Given the description of an element on the screen output the (x, y) to click on. 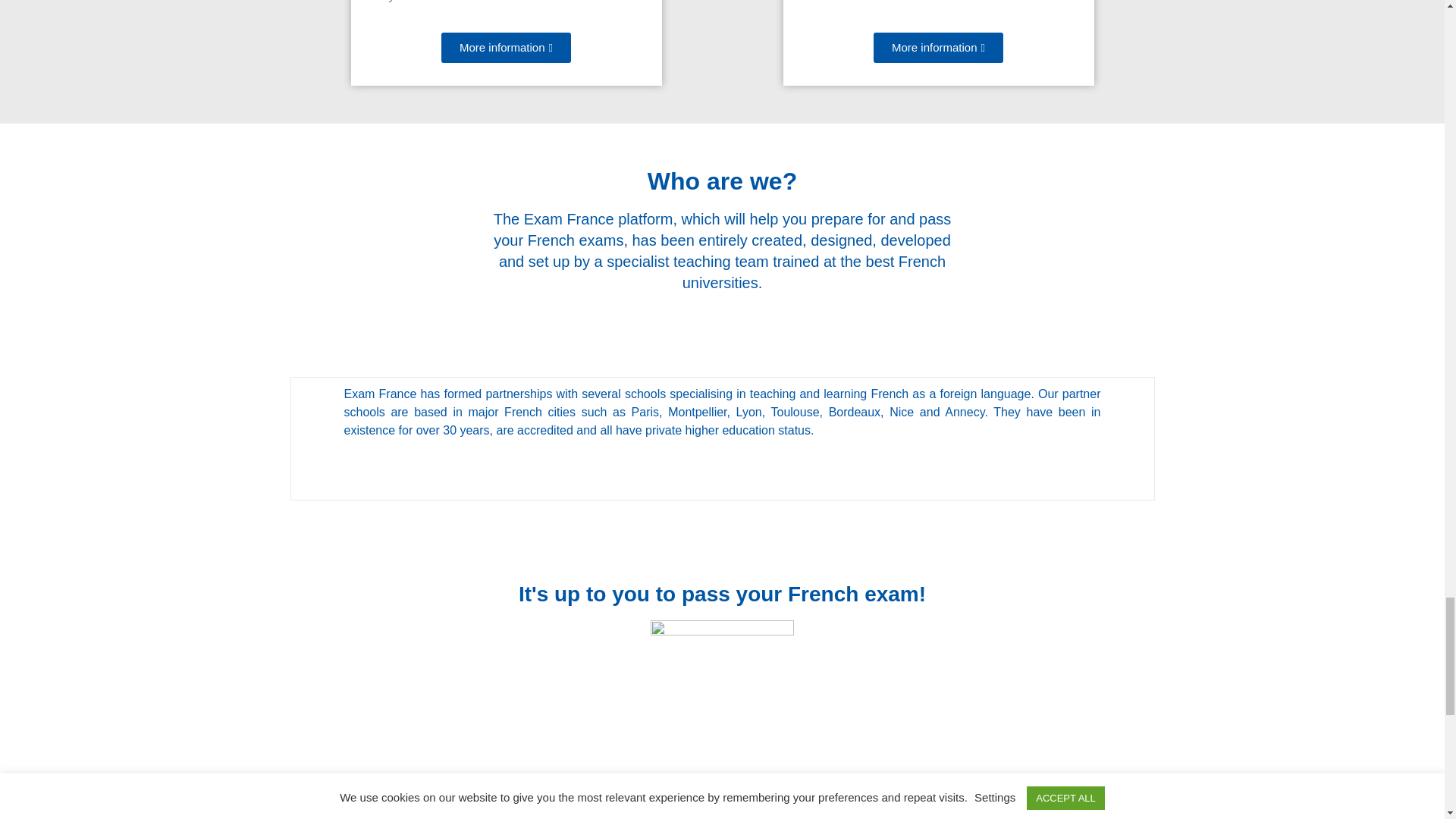
More information (938, 47)
More information (505, 47)
